Given the description of an element on the screen output the (x, y) to click on. 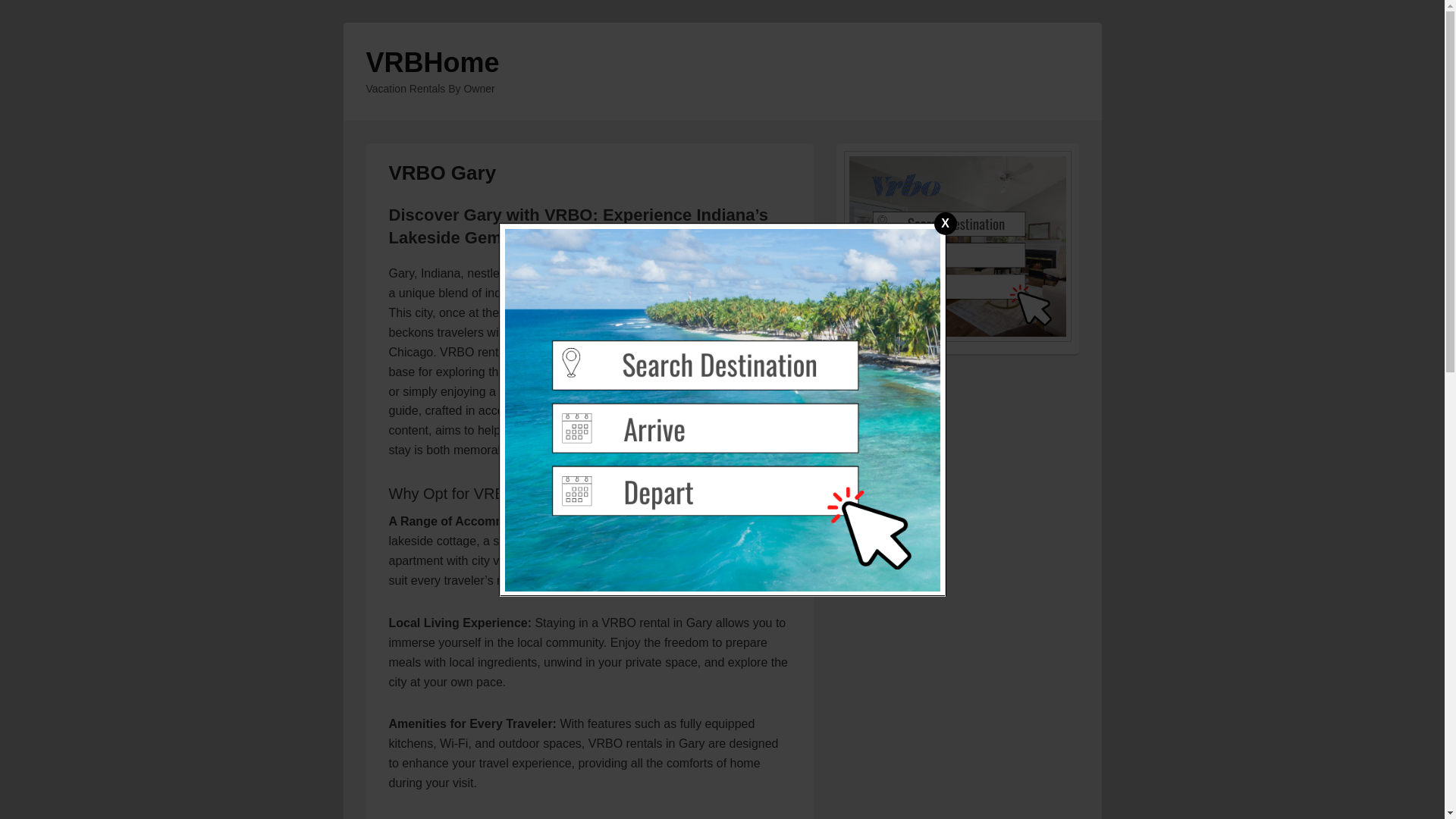
VRBHome (432, 61)
